Given the description of an element on the screen output the (x, y) to click on. 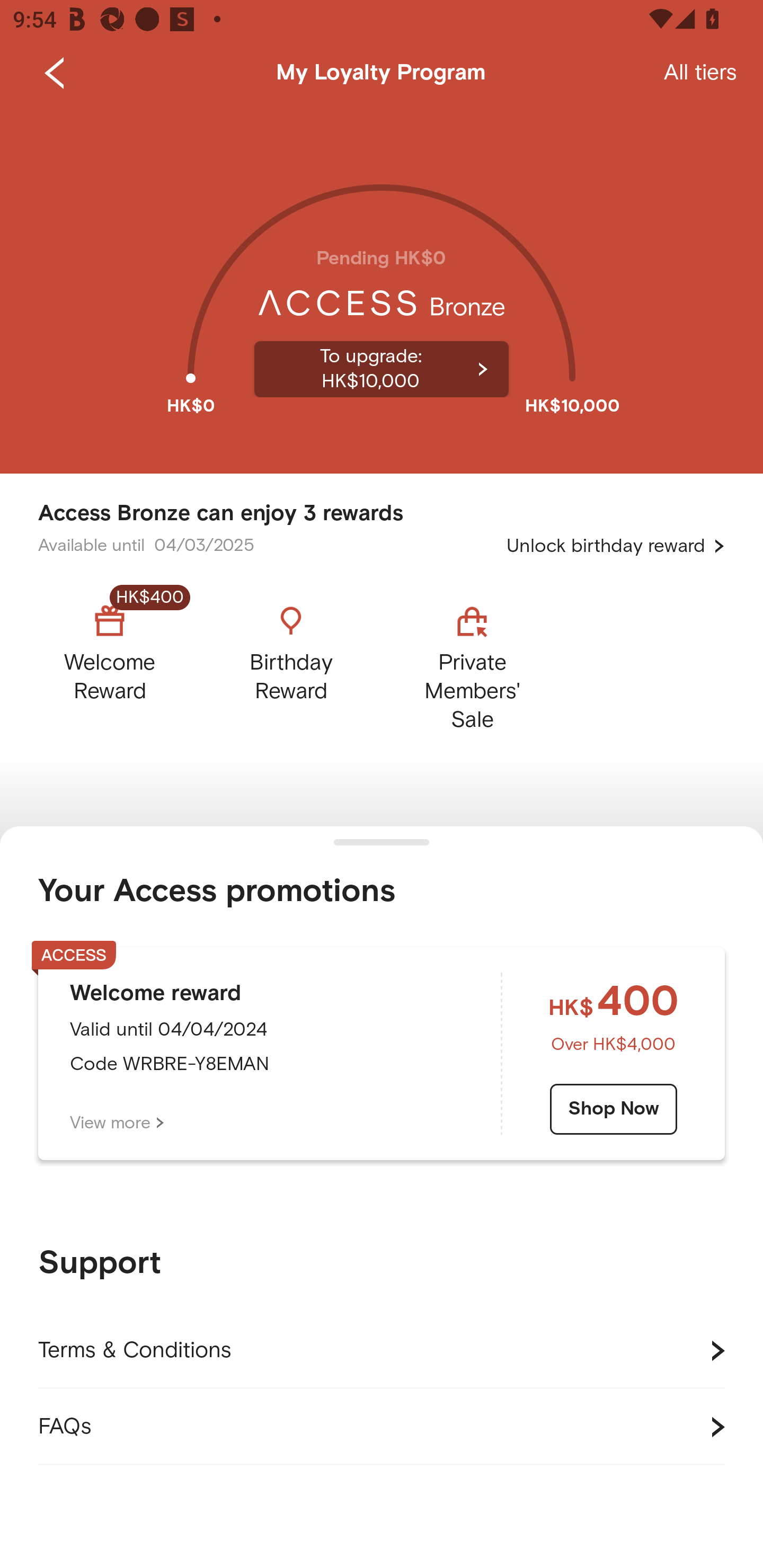
All tiers (700, 72)
HK$0 HK$10,000 Pending HK$0 To upgrade: HK$10,000 (381, 290)
Unlock birthday reward (615, 546)
HK$400 Welcome Reward (125, 662)
Birthday Reward (290, 662)
Private Members' Sale (471, 662)
Shop Now (613, 1109)
View more (117, 1123)
Terms & Conditions (381, 1350)
FAQs (381, 1426)
